Given the description of an element on the screen output the (x, y) to click on. 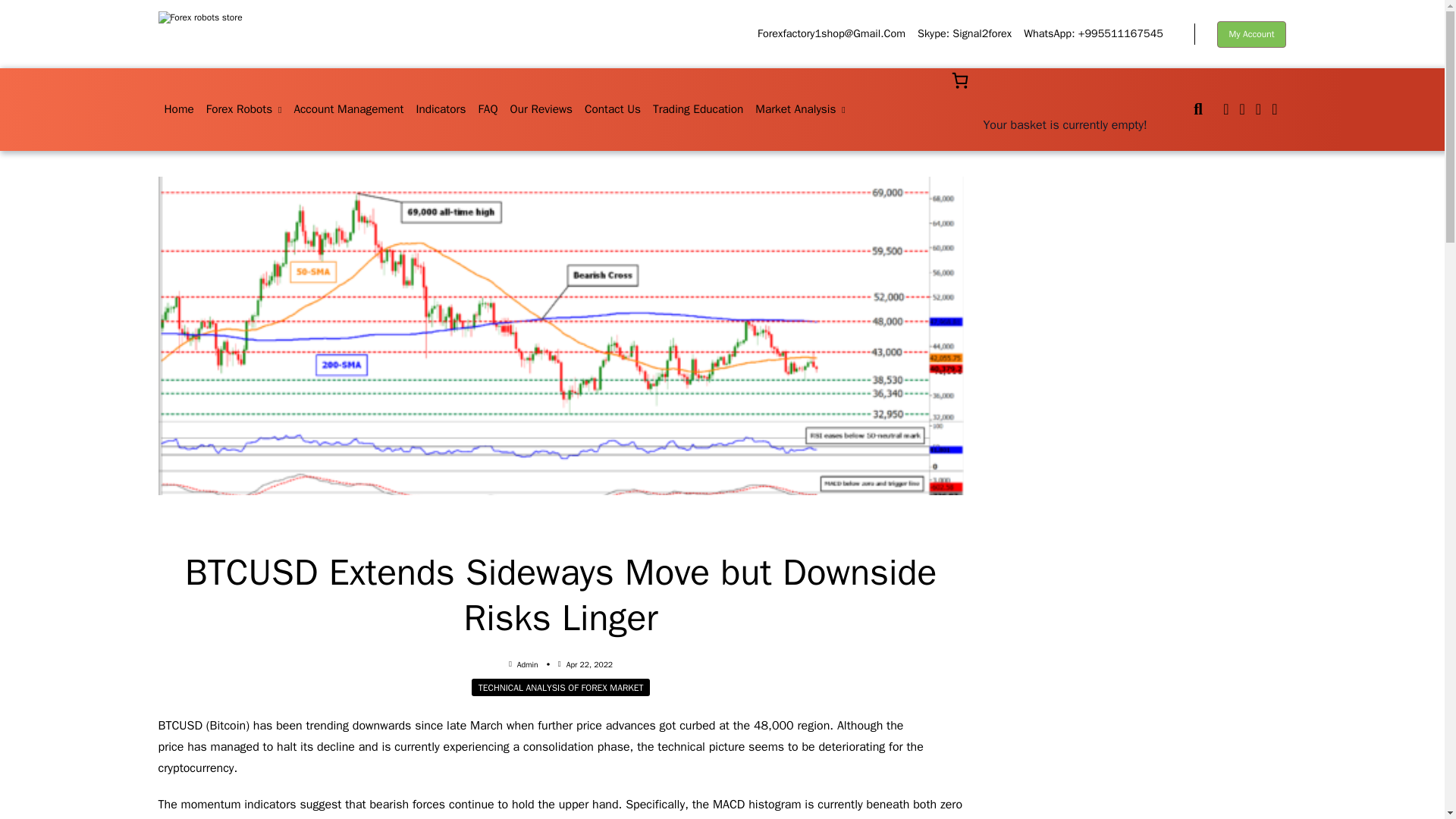
My Account (1252, 34)
Skype: Signal2forex (964, 33)
